Given the description of an element on the screen output the (x, y) to click on. 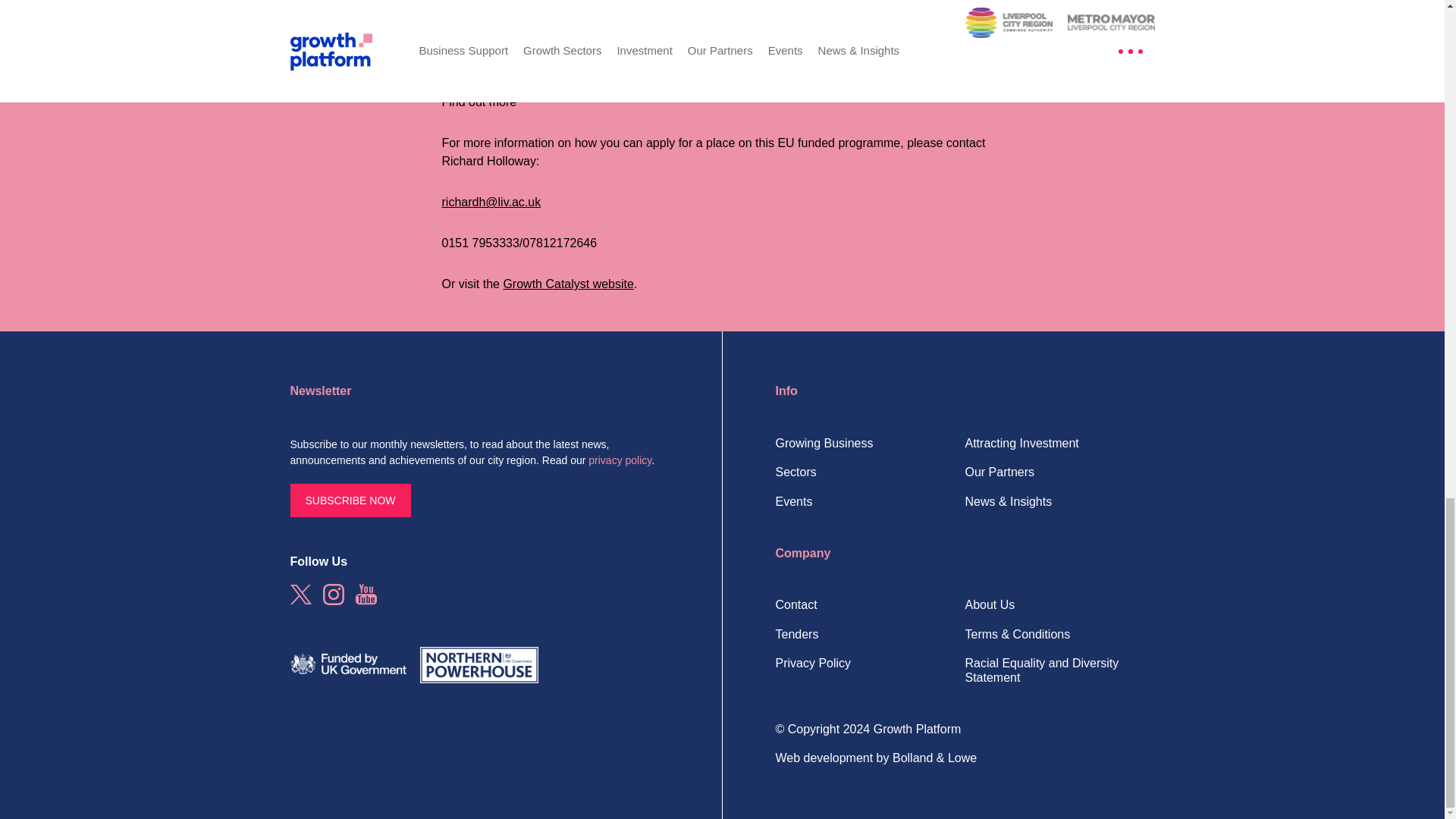
Growth Platform on Twitter (300, 594)
Growth Platform on Instagram (333, 594)
Growth Platform on YouTube (365, 594)
